Given the description of an element on the screen output the (x, y) to click on. 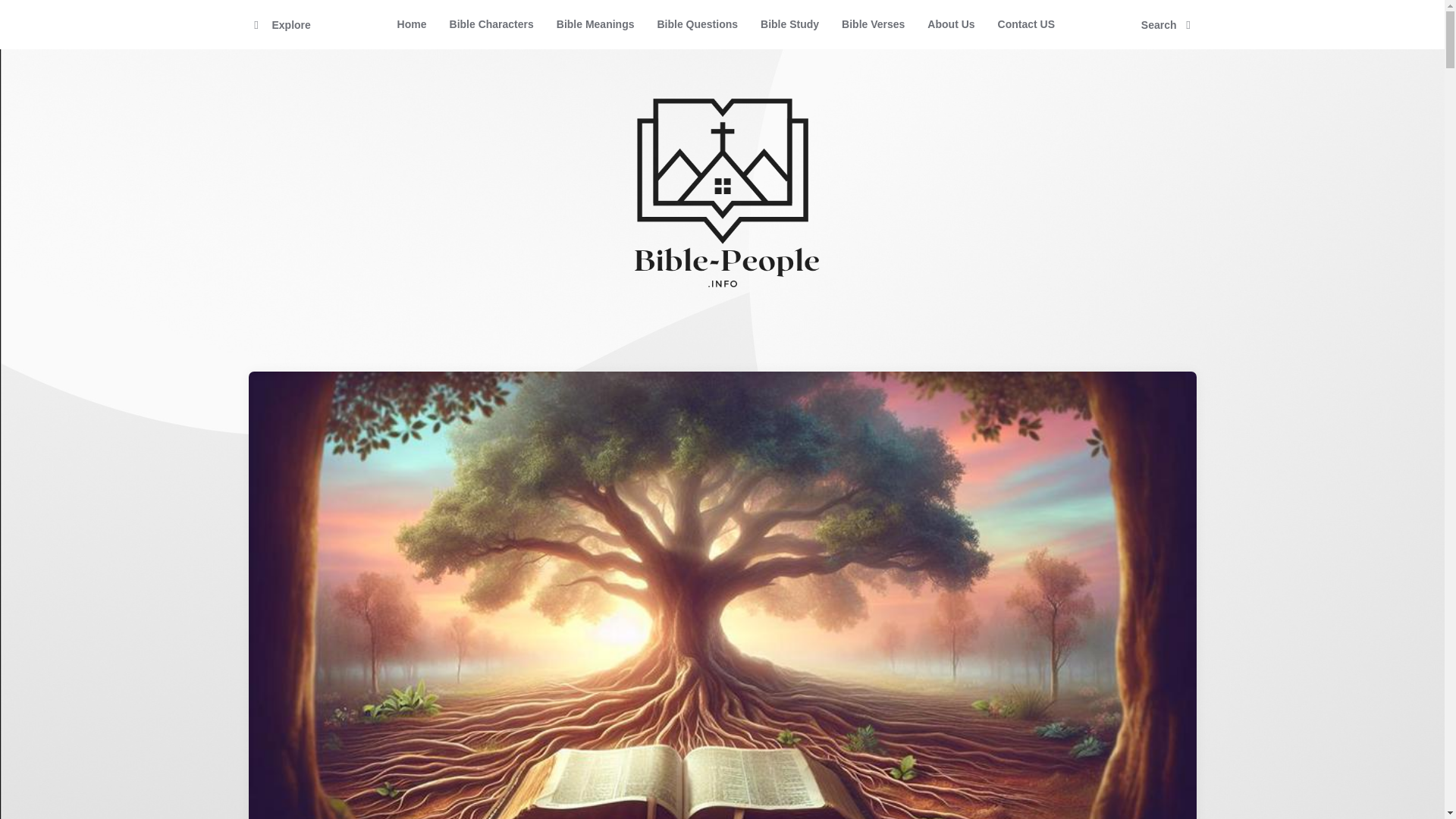
Bible Questions (697, 24)
Home (411, 24)
Contact US (1026, 24)
About Us (950, 24)
Bible Characters (491, 24)
Bible Meanings (595, 24)
Bible Study (789, 24)
Bible Verses (872, 24)
